Given the description of an element on the screen output the (x, y) to click on. 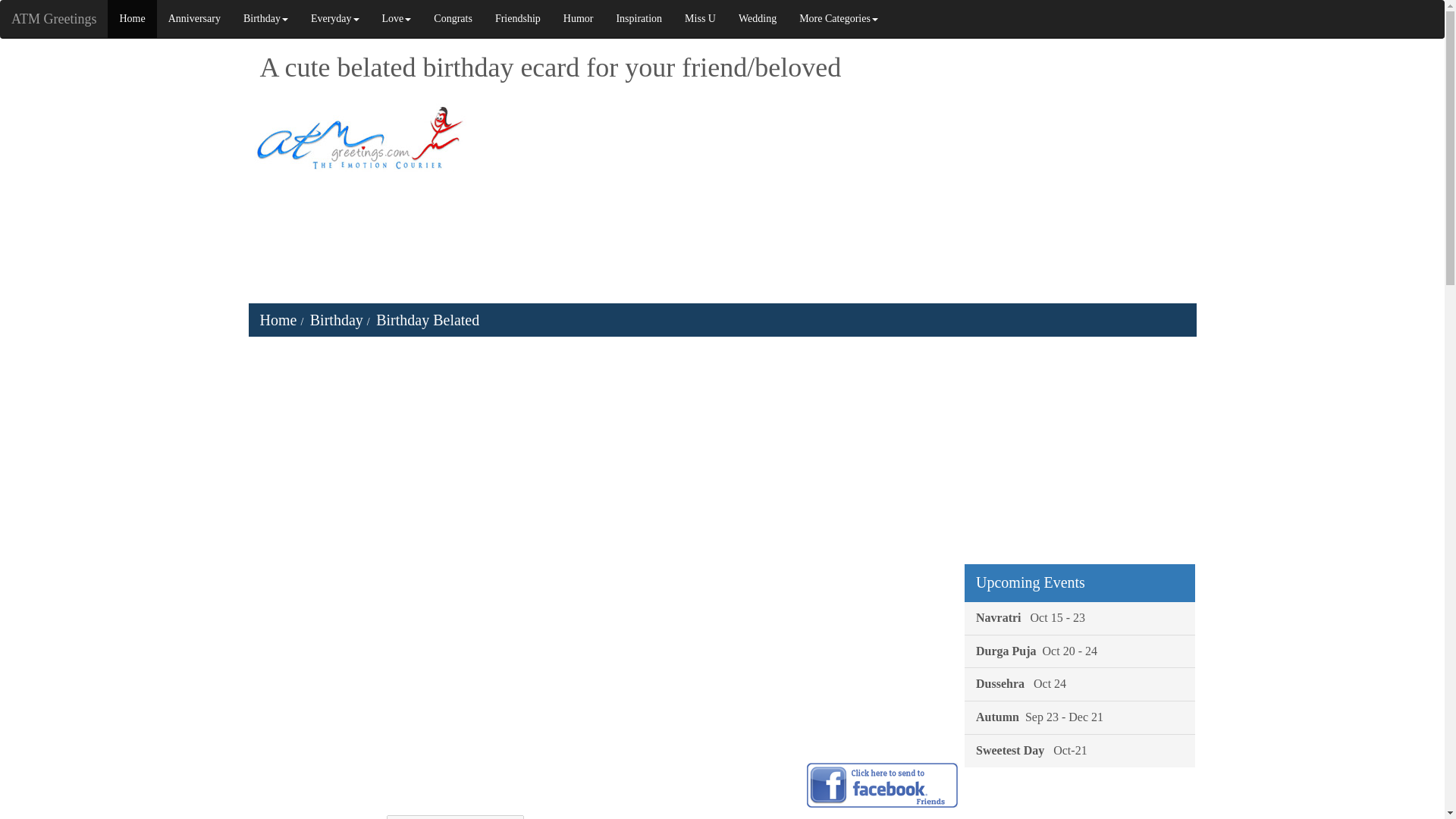
Navratri (1079, 618)
Dussehra (1079, 684)
Sweetest Day (1079, 750)
Durga Puja  (1079, 651)
Anniversary (194, 18)
Everyday (335, 18)
Birthday (265, 18)
ATM Greetings (53, 18)
Love (397, 18)
Advertisement (881, 196)
Advertisement (1079, 800)
Advertisement (1079, 453)
Autumn (1079, 717)
Home (131, 18)
